Given the description of an element on the screen output the (x, y) to click on. 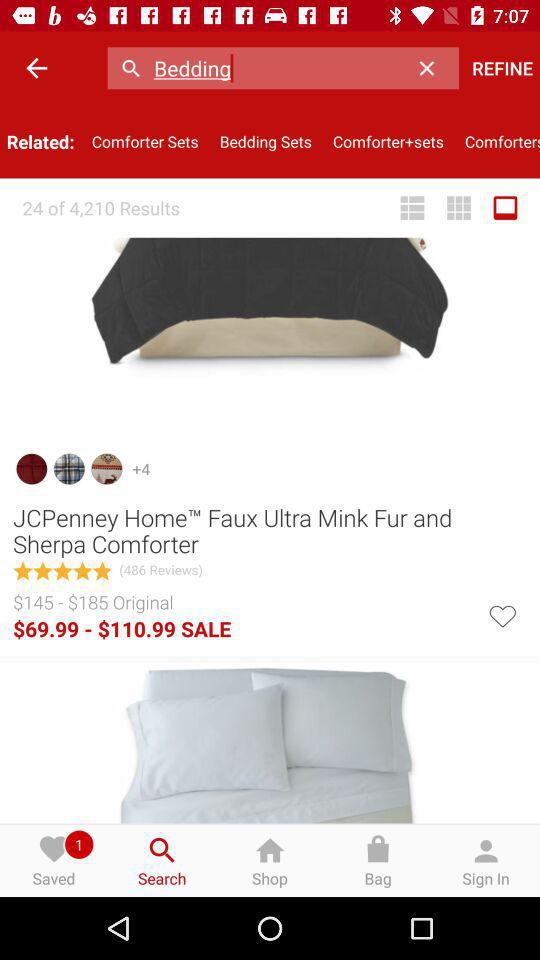
launch item to the right of the comforter sets icon (265, 141)
